Given the description of an element on the screen output the (x, y) to click on. 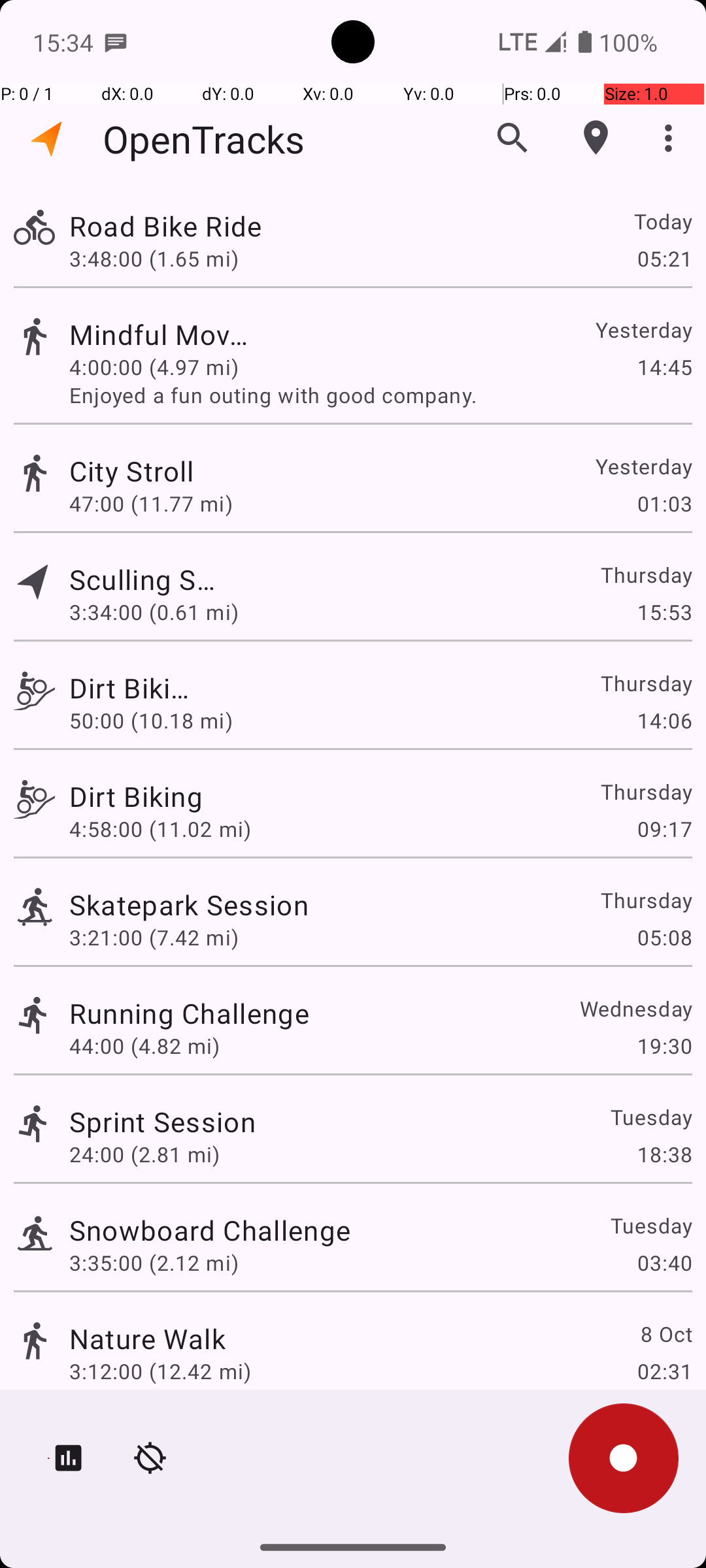
Road Bike Ride Element type: android.widget.TextView (188, 225)
3:48:00 (1.65 mi) Element type: android.widget.TextView (153, 258)
05:21 Element type: android.widget.TextView (664, 258)
Mindful Movement Element type: android.widget.TextView (162, 333)
4:00:00 (4.97 mi) Element type: android.widget.TextView (153, 366)
14:45 Element type: android.widget.TextView (664, 366)
Enjoyed a fun outing with good company. Element type: android.widget.TextView (380, 394)
City Stroll Element type: android.widget.TextView (209, 470)
47:00 (11.77 mi) Element type: android.widget.TextView (153, 503)
01:03 Element type: android.widget.TextView (664, 503)
Sculling Session Element type: android.widget.TextView (147, 578)
3:34:00 (0.61 mi) Element type: android.widget.TextView (159, 611)
15:53 Element type: android.widget.TextView (664, 611)
Dirt Biking Element type: android.widget.TextView (129, 687)
50:00 (10.18 mi) Element type: android.widget.TextView (153, 720)
14:06 Element type: android.widget.TextView (664, 720)
4:58:00 (11.02 mi) Element type: android.widget.TextView (159, 828)
09:17 Element type: android.widget.TextView (664, 828)
Skatepark Session Element type: android.widget.TextView (188, 904)
3:21:00 (7.42 mi) Element type: android.widget.TextView (153, 937)
05:08 Element type: android.widget.TextView (664, 937)
Running Challenge Element type: android.widget.TextView (188, 1012)
44:00 (4.82 mi) Element type: android.widget.TextView (144, 1045)
19:30 Element type: android.widget.TextView (664, 1045)
Sprint Session Element type: android.widget.TextView (162, 1121)
24:00 (2.81 mi) Element type: android.widget.TextView (144, 1154)
18:38 Element type: android.widget.TextView (664, 1154)
Snowboard Challenge Element type: android.widget.TextView (209, 1229)
3:35:00 (2.12 mi) Element type: android.widget.TextView (153, 1262)
03:40 Element type: android.widget.TextView (664, 1262)
Nature Walk Element type: android.widget.TextView (147, 1337)
3:12:00 (12.42 mi) Element type: android.widget.TextView (159, 1370)
02:31 Element type: android.widget.TextView (664, 1370)
